Given the description of an element on the screen output the (x, y) to click on. 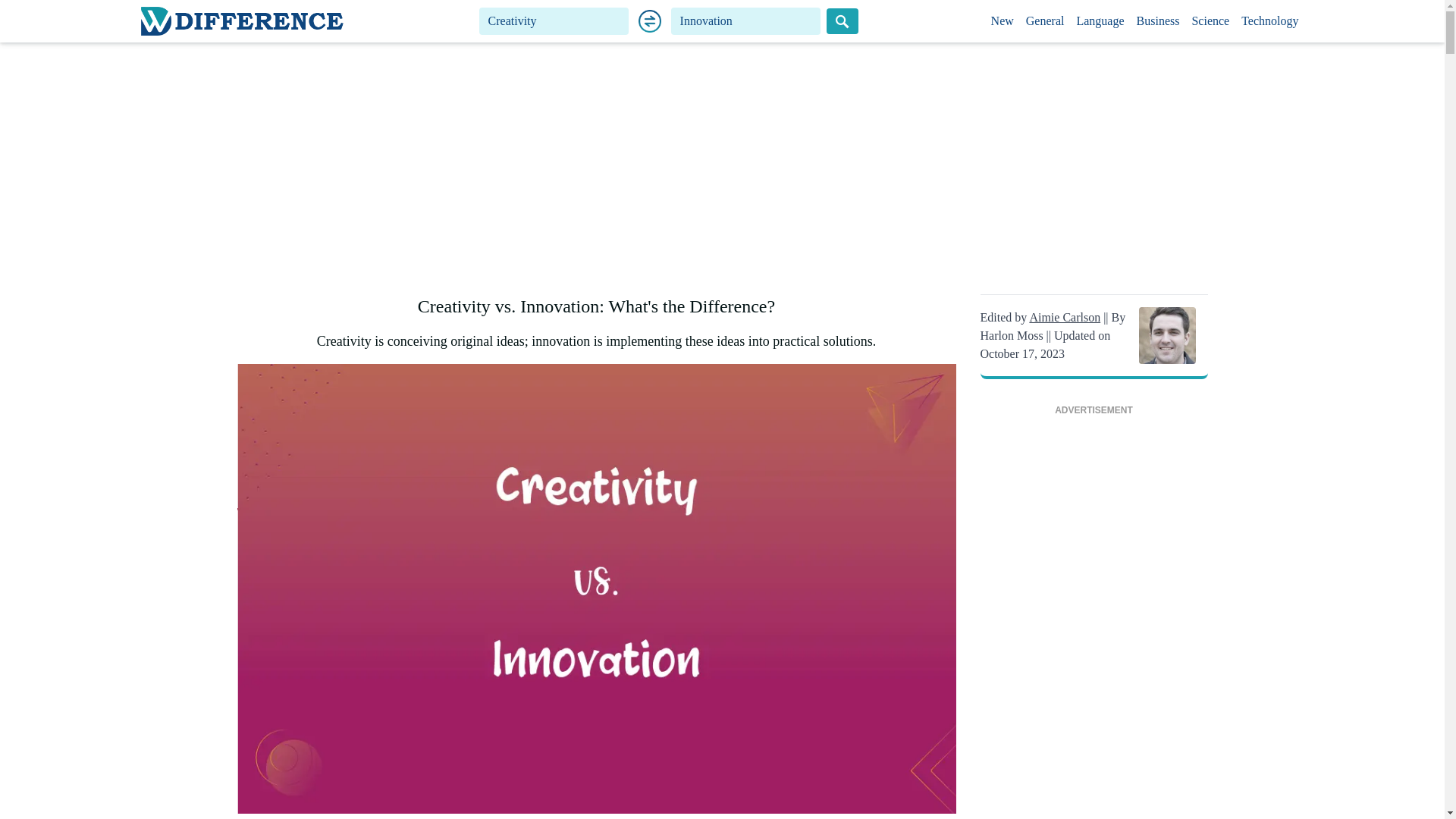
General (1045, 21)
Innovation (746, 21)
Language (1099, 21)
Business (1158, 21)
Science (1209, 21)
Creativity (553, 21)
New (1002, 21)
Technology (1269, 21)
